Given the description of an element on the screen output the (x, y) to click on. 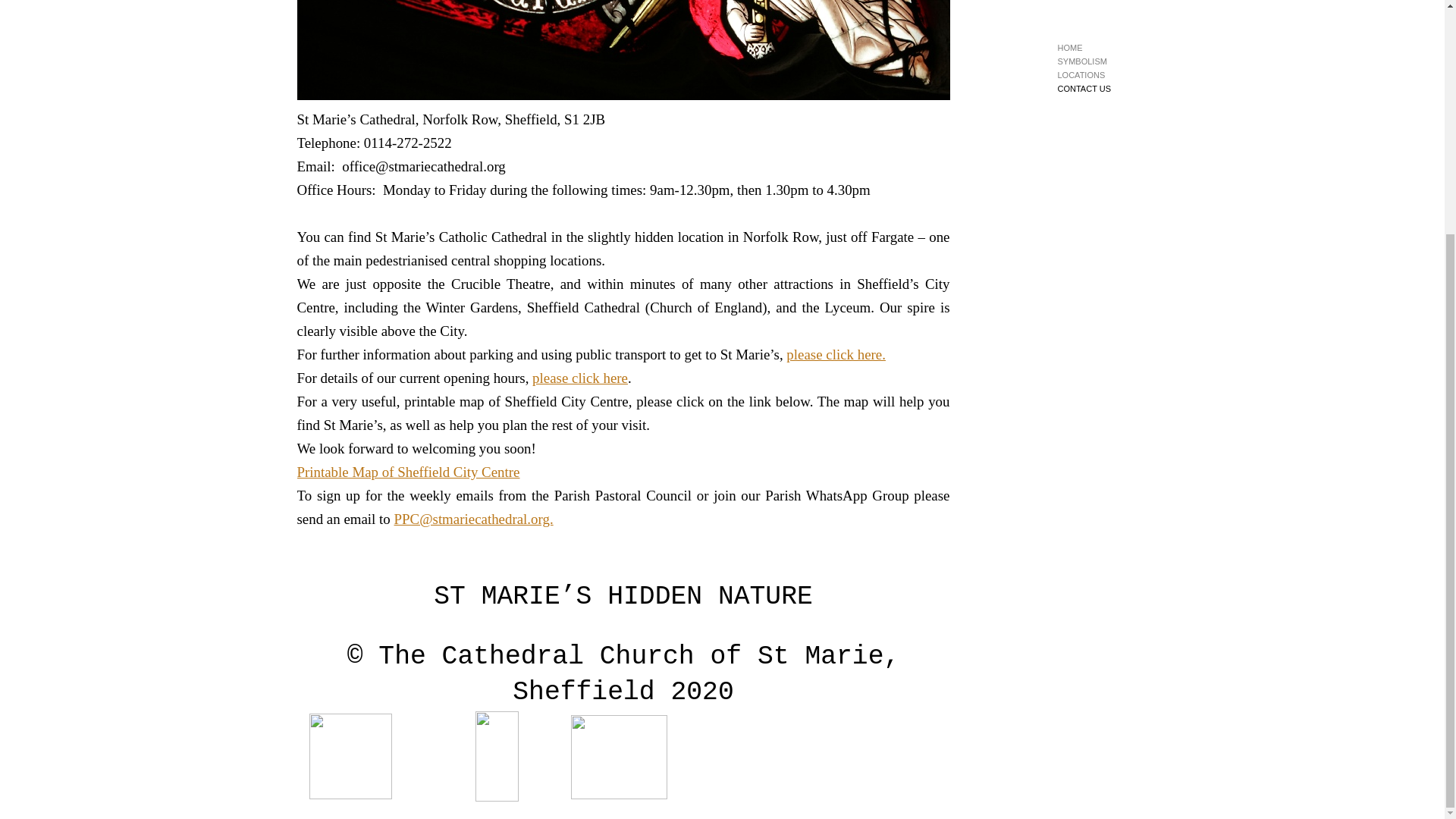
LOCATIONS (1085, 75)
Printable Map of Sheffield City Centre (408, 471)
please click here (579, 377)
SYMBOLISM (1085, 61)
HOME (1085, 48)
CONTACT US (1085, 89)
please click here. (835, 354)
Donate (829, 754)
